Given the description of an element on the screen output the (x, y) to click on. 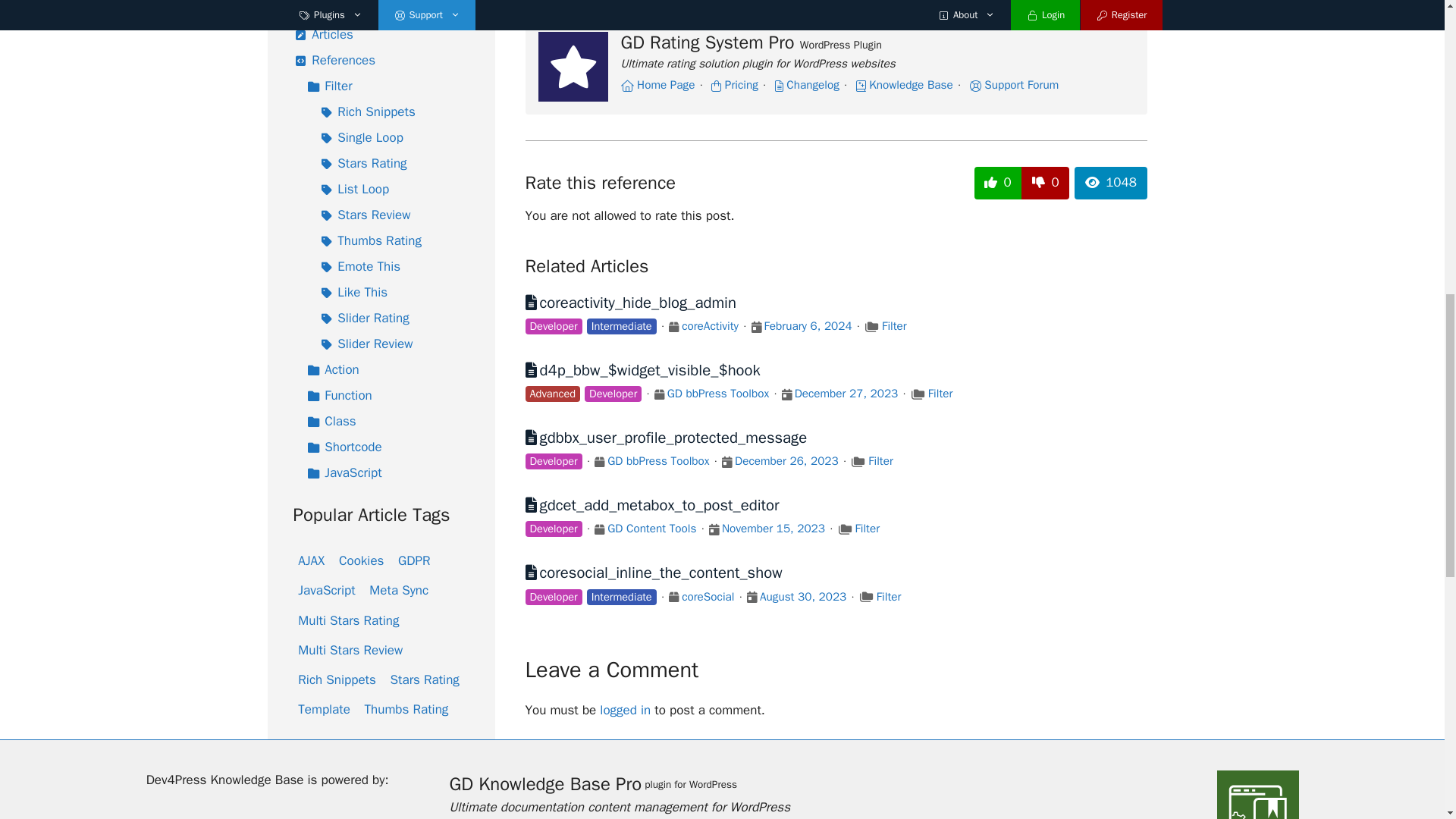
Posted on (756, 327)
Not helpful count (1045, 183)
GD Rating System Pro (573, 66)
Product (673, 327)
Number of views (1110, 183)
Helpful count (998, 183)
